Given the description of an element on the screen output the (x, y) to click on. 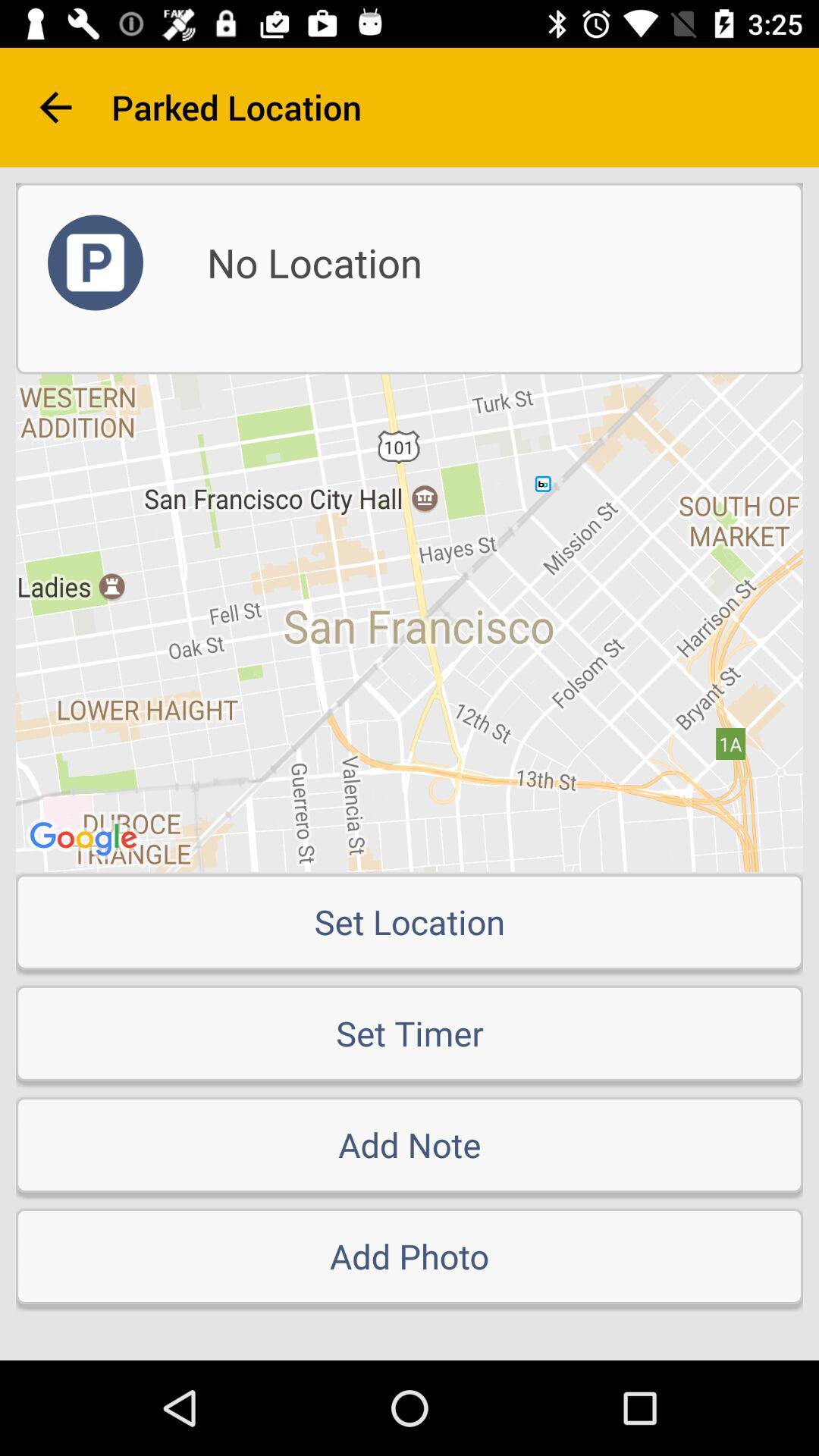
select the item above the add photo (409, 1144)
